Given the description of an element on the screen output the (x, y) to click on. 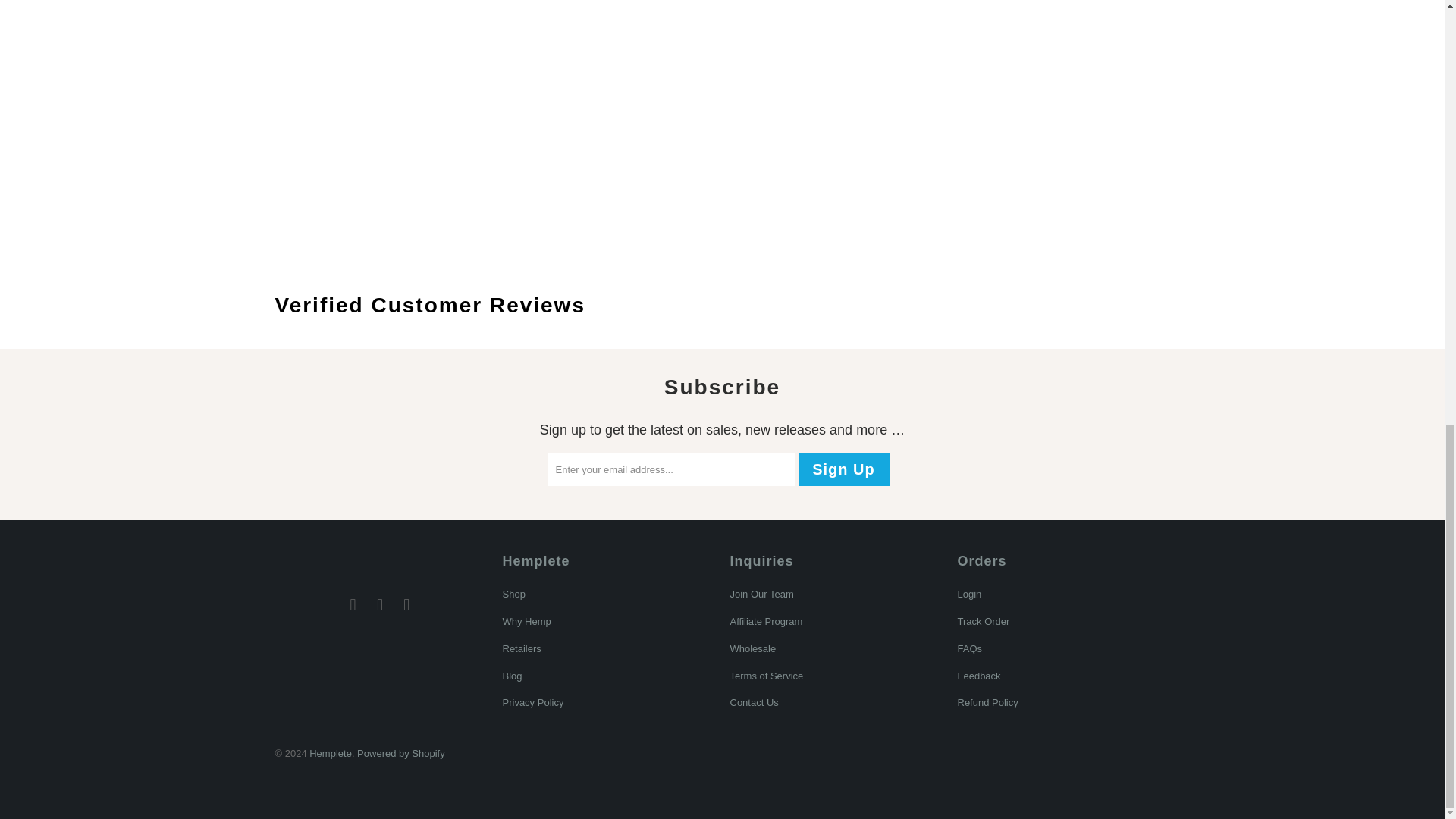
Email Hemplete (407, 605)
Sign Up (842, 469)
Hemplete on Instagram (380, 605)
Hemplete on Facebook (353, 605)
